Given the description of an element on the screen output the (x, y) to click on. 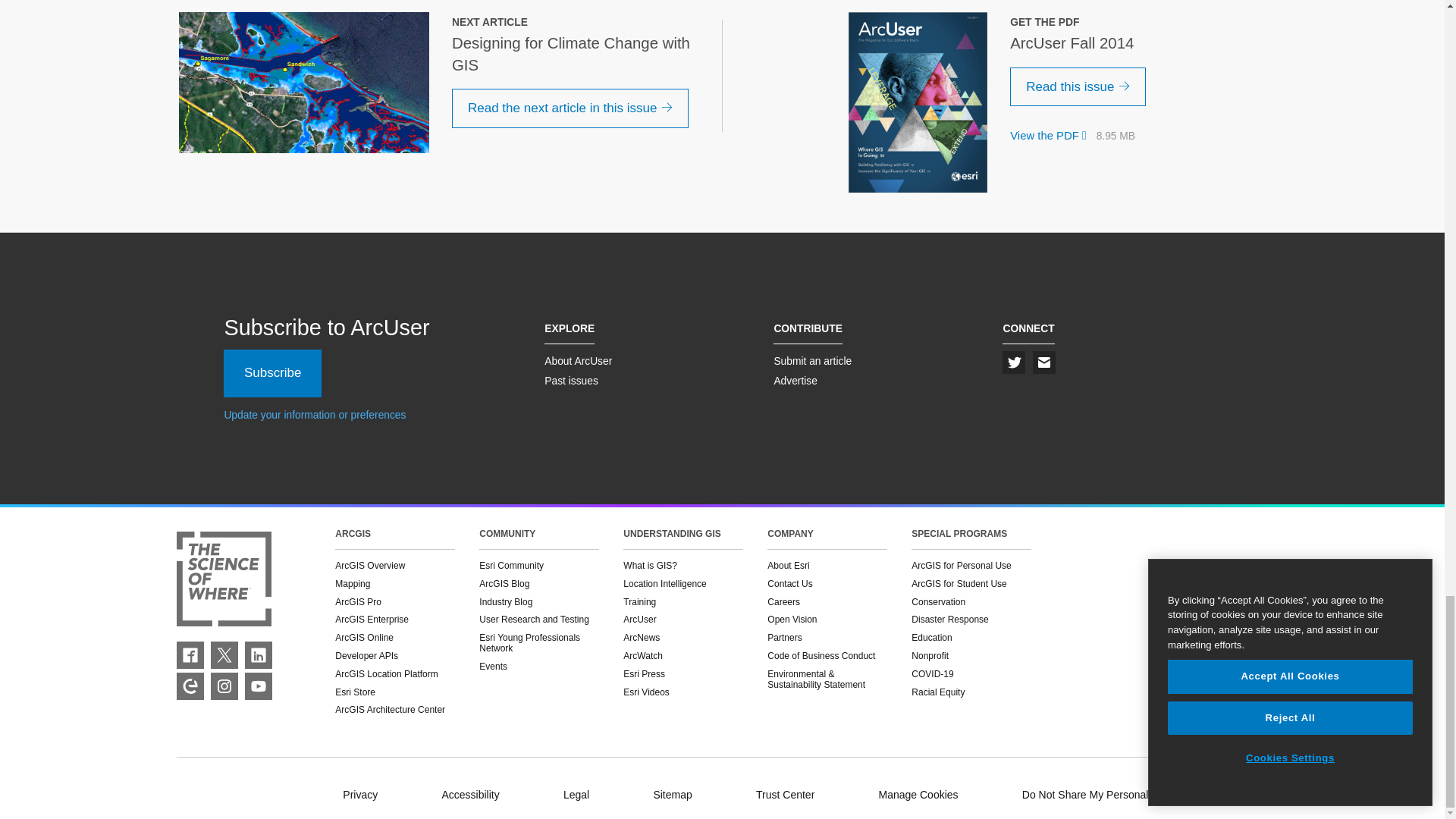
LinkedInLinkedIn (257, 655)
Esri CommunityEsri Community (189, 686)
FacebookFacebook (189, 655)
InstagramInstagram (224, 686)
TwitterTwitter (224, 655)
